Given the description of an element on the screen output the (x, y) to click on. 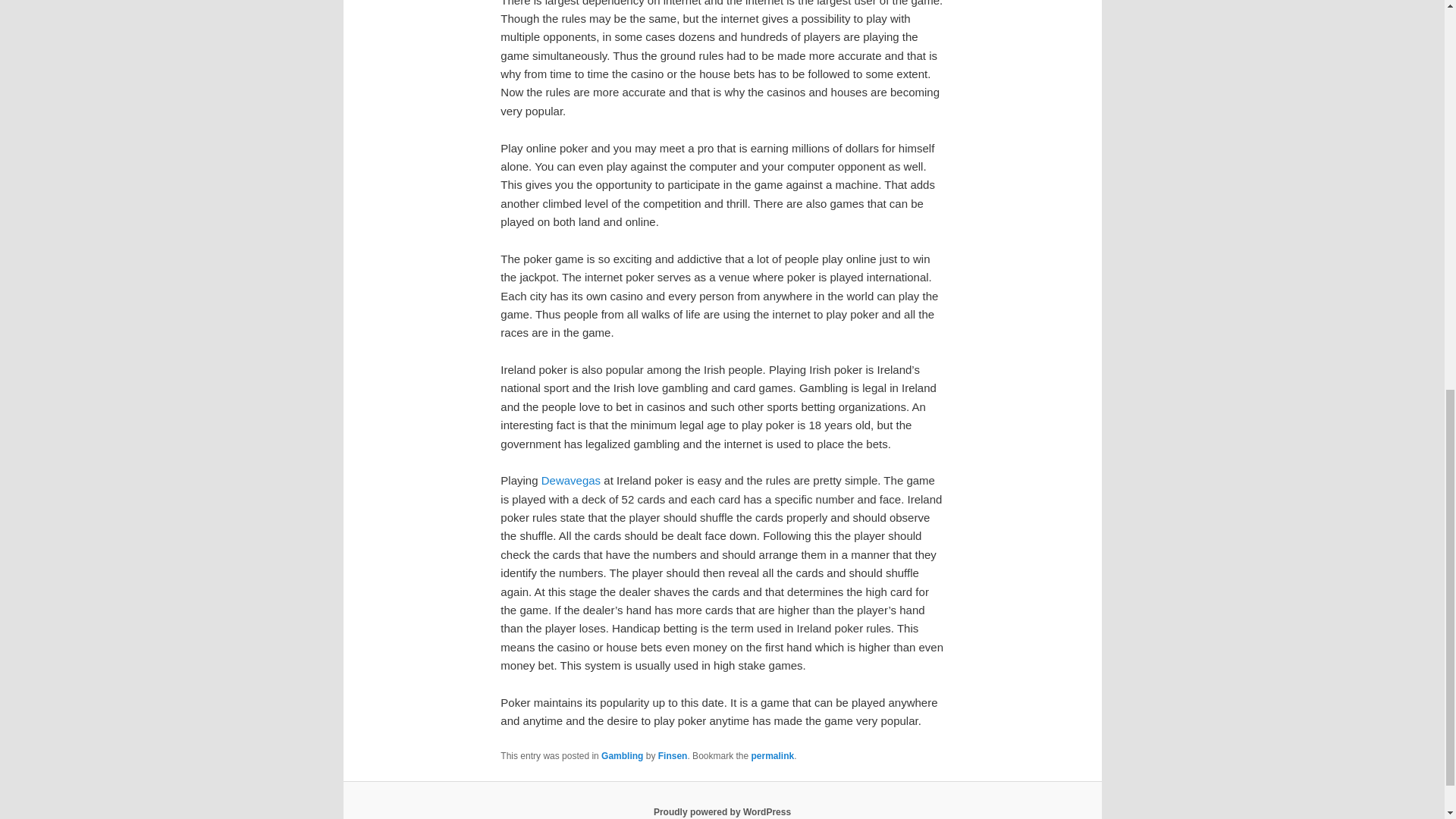
Proudly powered by WordPress (721, 811)
Finsen (672, 756)
Semantic Personal Publishing Platform (721, 811)
Gambling (622, 756)
Dewavegas (570, 480)
Permalink to Most Popular Poker Games Played (772, 756)
permalink (772, 756)
